Given the description of an element on the screen output the (x, y) to click on. 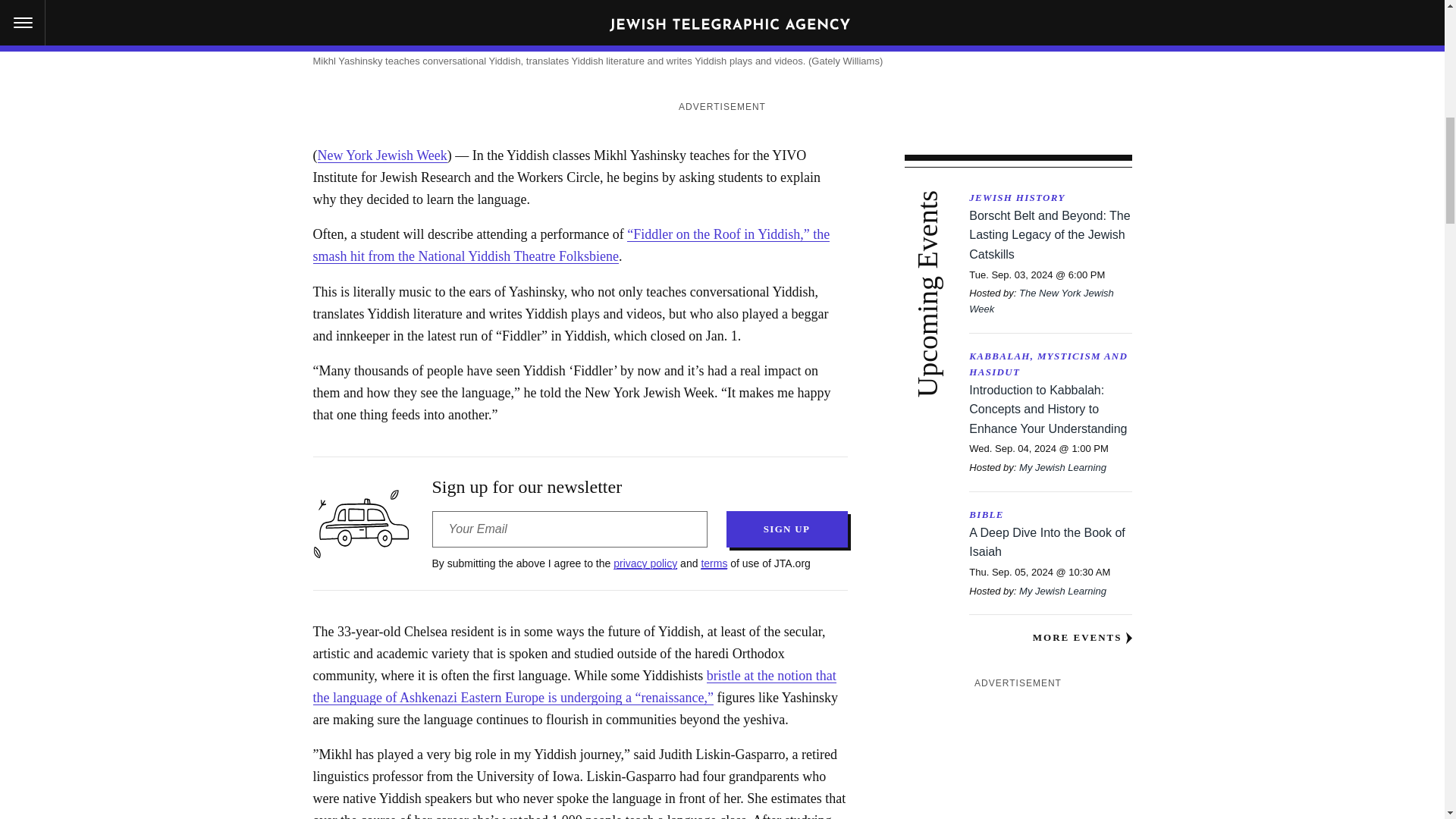
Bible (1050, 514)
Sign Up (786, 529)
Jewish History (1050, 198)
Kabbalah, Mysticism and Hasidut (1050, 364)
